Given the description of an element on the screen output the (x, y) to click on. 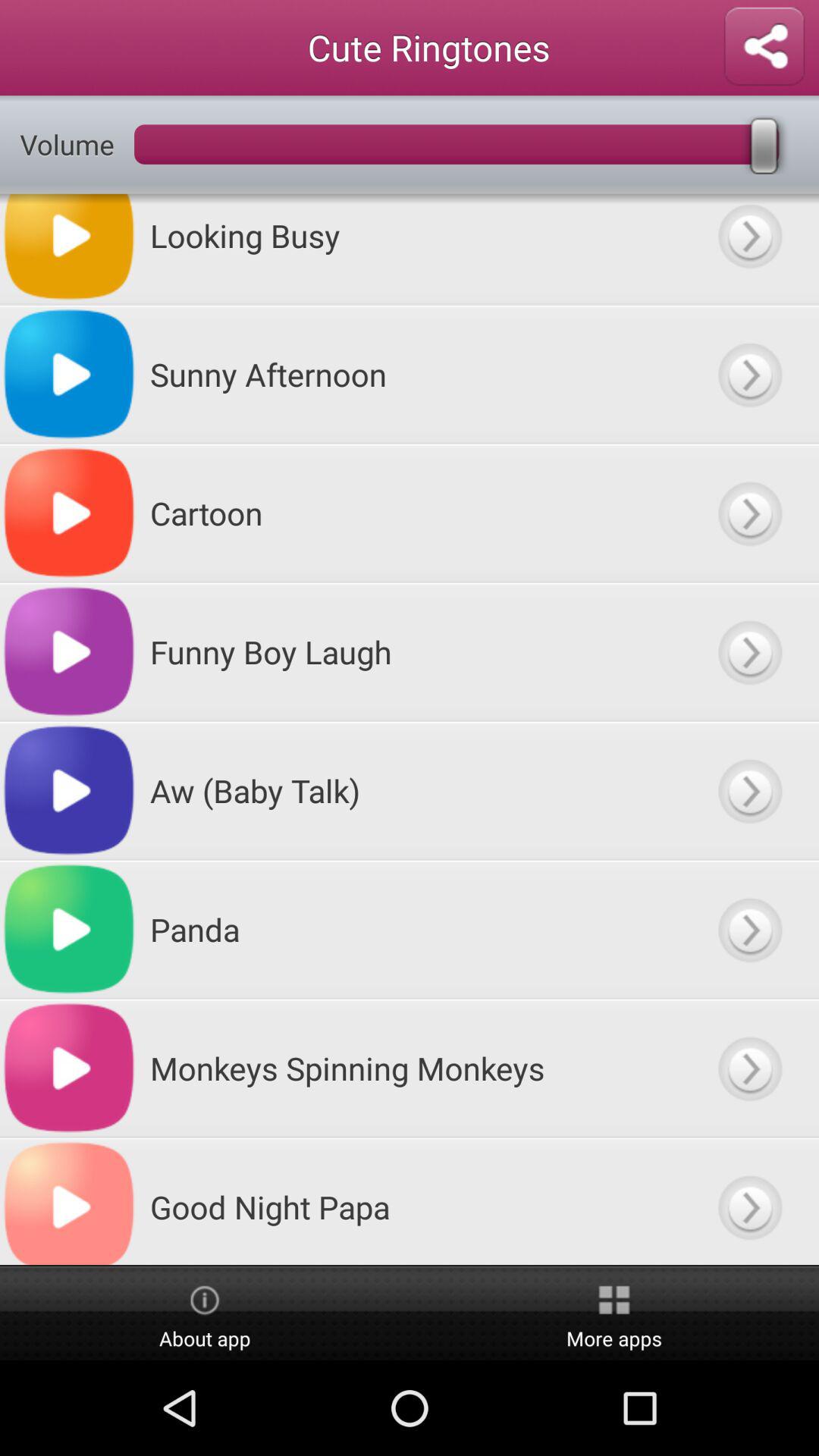
play panda (749, 929)
